Given the description of an element on the screen output the (x, y) to click on. 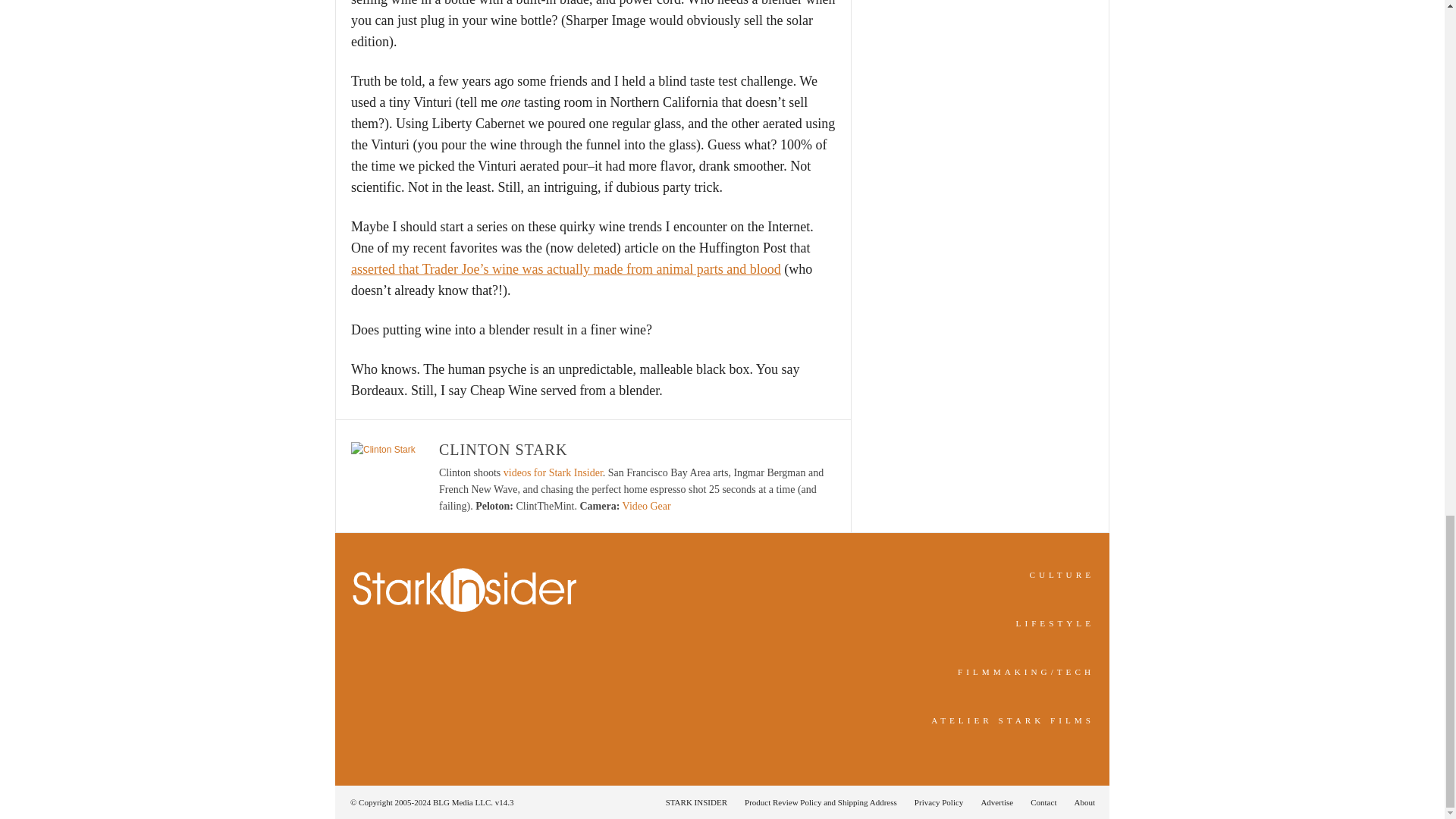
Product Review Policy and Shipping Address (820, 801)
STARK INSIDER (696, 801)
Privacy Policy (939, 801)
videos for Stark Insider (552, 472)
Video Gear (647, 505)
CLINTON STARK (503, 449)
LIFESTYLE (1055, 623)
ATELIER STARK FILMS (1012, 719)
About (1079, 801)
CULTURE (1061, 574)
